Given the description of an element on the screen output the (x, y) to click on. 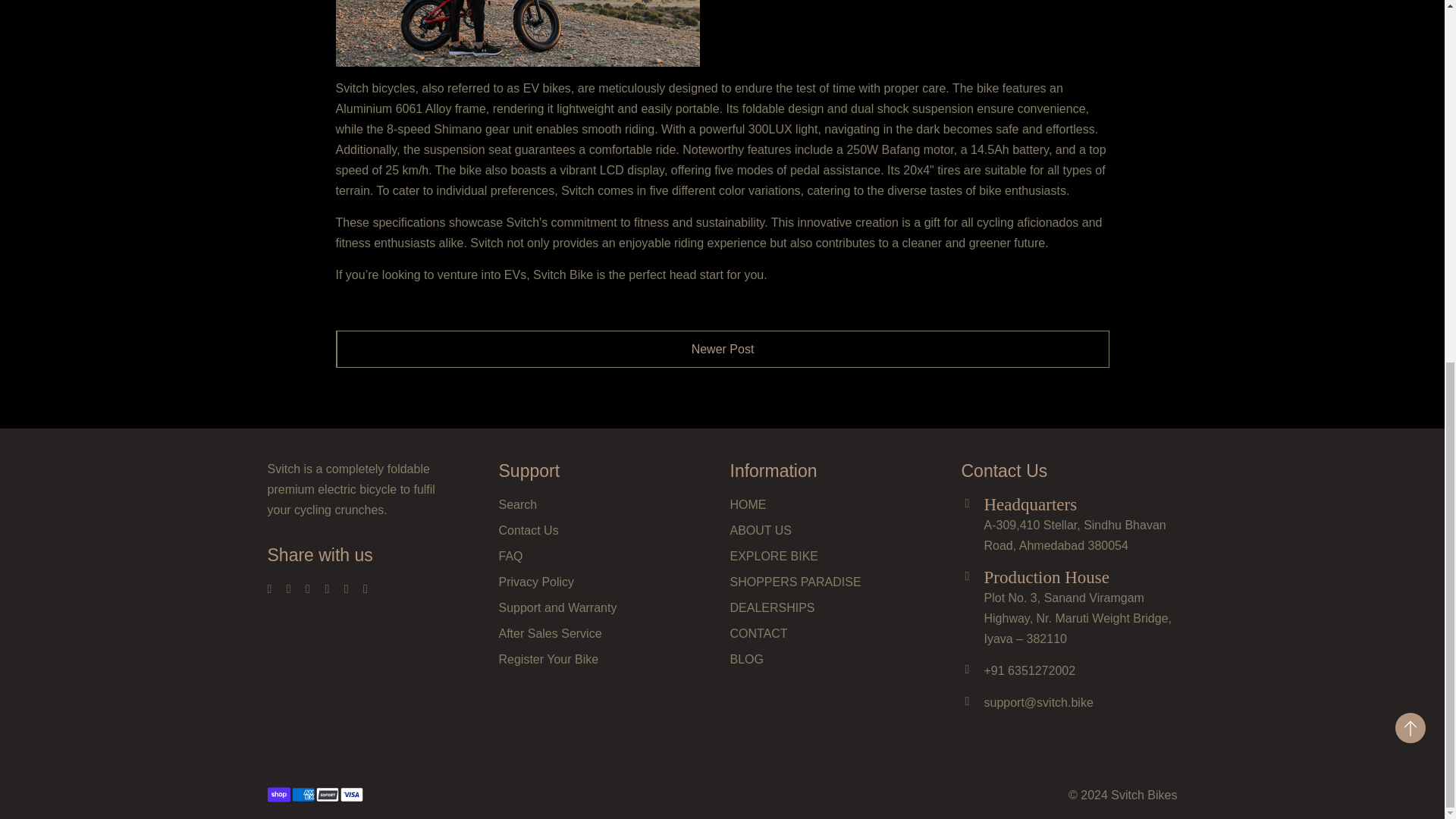
Privacy Policy (537, 584)
FAQ (510, 558)
Newer Post (722, 348)
Contact Us (529, 533)
American Express (302, 794)
Shop Pay (277, 794)
Search (518, 507)
Visa (350, 794)
SOFORT (326, 794)
